Given the description of an element on the screen output the (x, y) to click on. 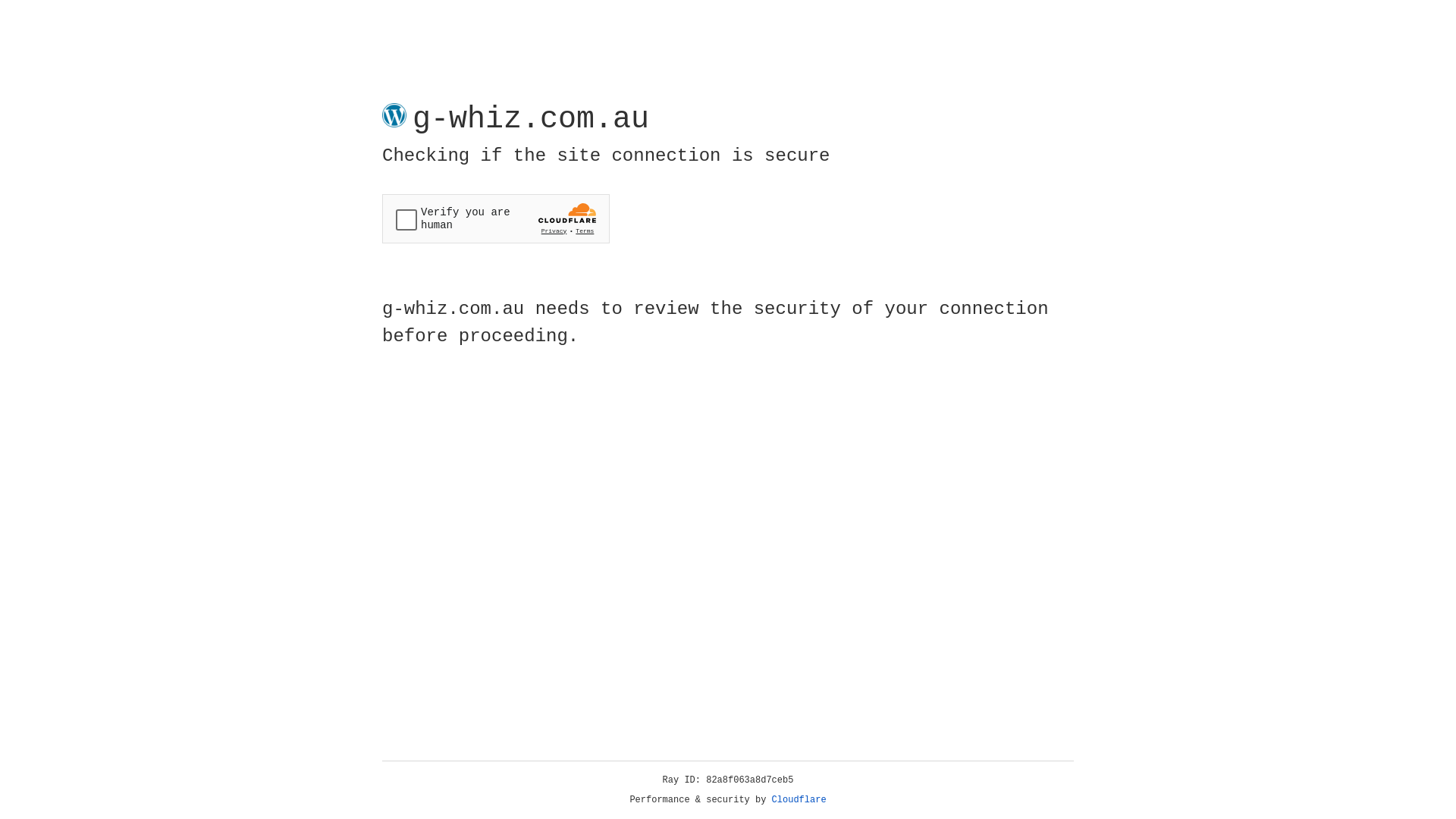
Cloudflare Element type: text (798, 799)
Widget containing a Cloudflare security challenge Element type: hover (495, 218)
